Given the description of an element on the screen output the (x, y) to click on. 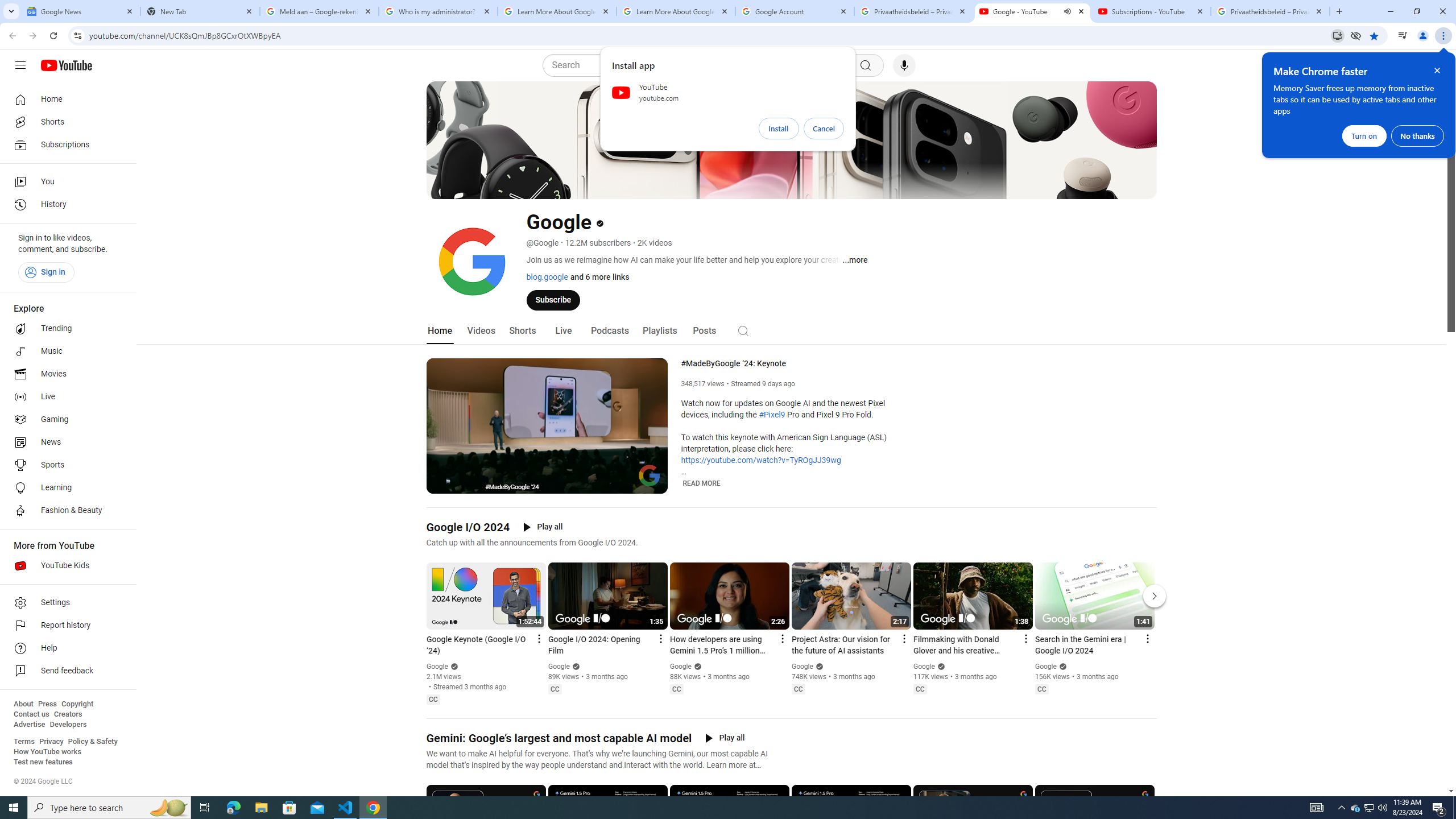
Send feedback (64, 671)
Playlists (659, 330)
Trending (64, 328)
Subscribe (552, 299)
Subscriptions (64, 144)
YouTube Kids (64, 565)
About (23, 703)
Channel watermark (649, 475)
Learning (64, 487)
Sports (64, 464)
